Given the description of an element on the screen output the (x, y) to click on. 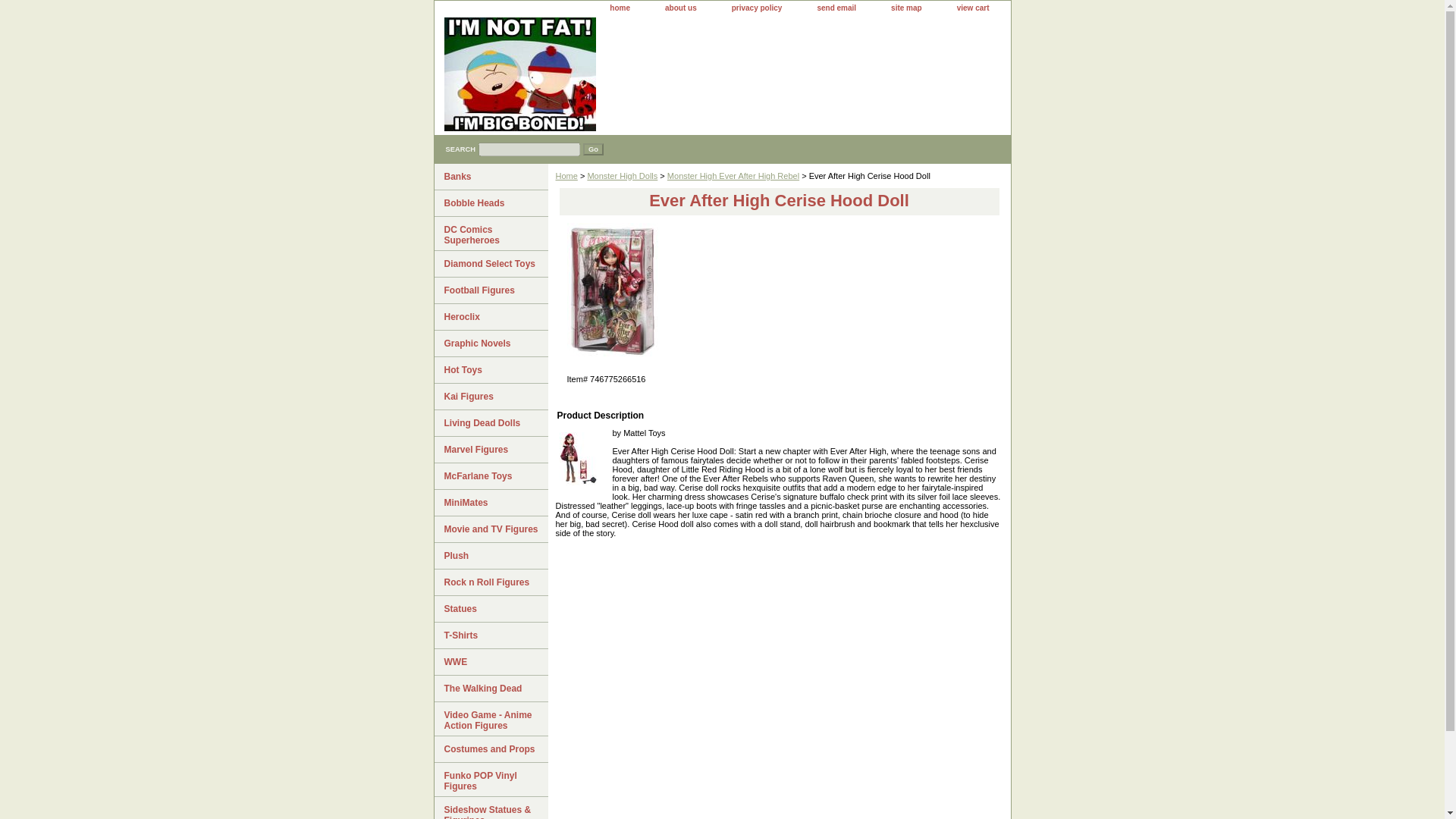
Banks (490, 176)
 Ever After High Cerise Hood Doll (613, 290)
Bobble Heads (490, 203)
Heroclix (490, 316)
Statues (490, 609)
Statues (490, 609)
Monster High Ever After High Rebel (732, 175)
Football Figures (490, 290)
Kai Figures (490, 397)
Kai Figures (490, 397)
Hot Toys (490, 370)
send email (836, 8)
Marvel Figures (490, 449)
DC Comics Superheroes (490, 233)
Go (593, 149)
